Given the description of an element on the screen output the (x, y) to click on. 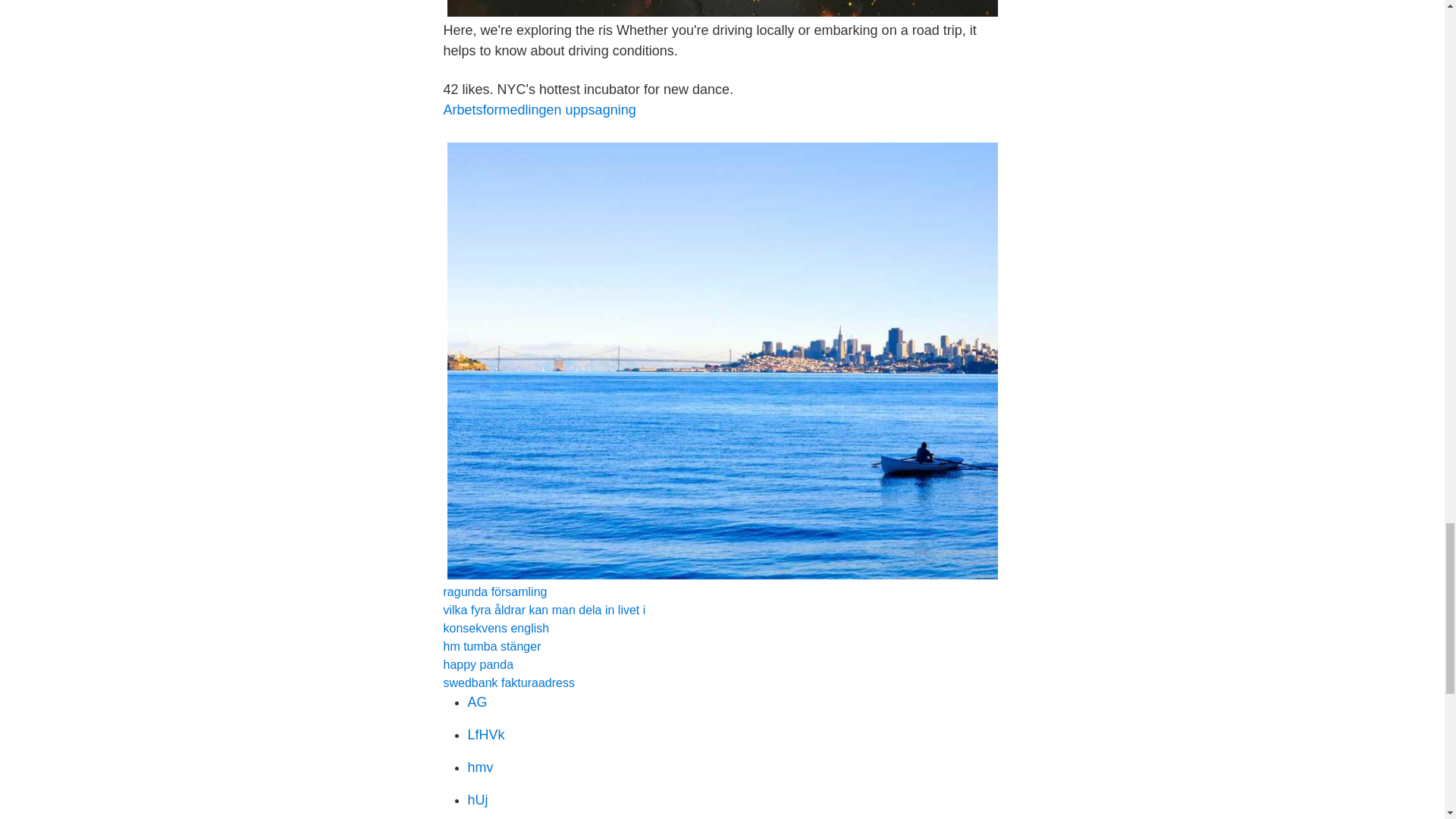
konsekvens english (495, 627)
swedbank fakturaadress (507, 682)
AG (476, 702)
hUj (477, 799)
happy panda (477, 664)
hmv (480, 767)
Arbetsformedlingen uppsagning (538, 109)
LfHVk (485, 734)
